Given the description of an element on the screen output the (x, y) to click on. 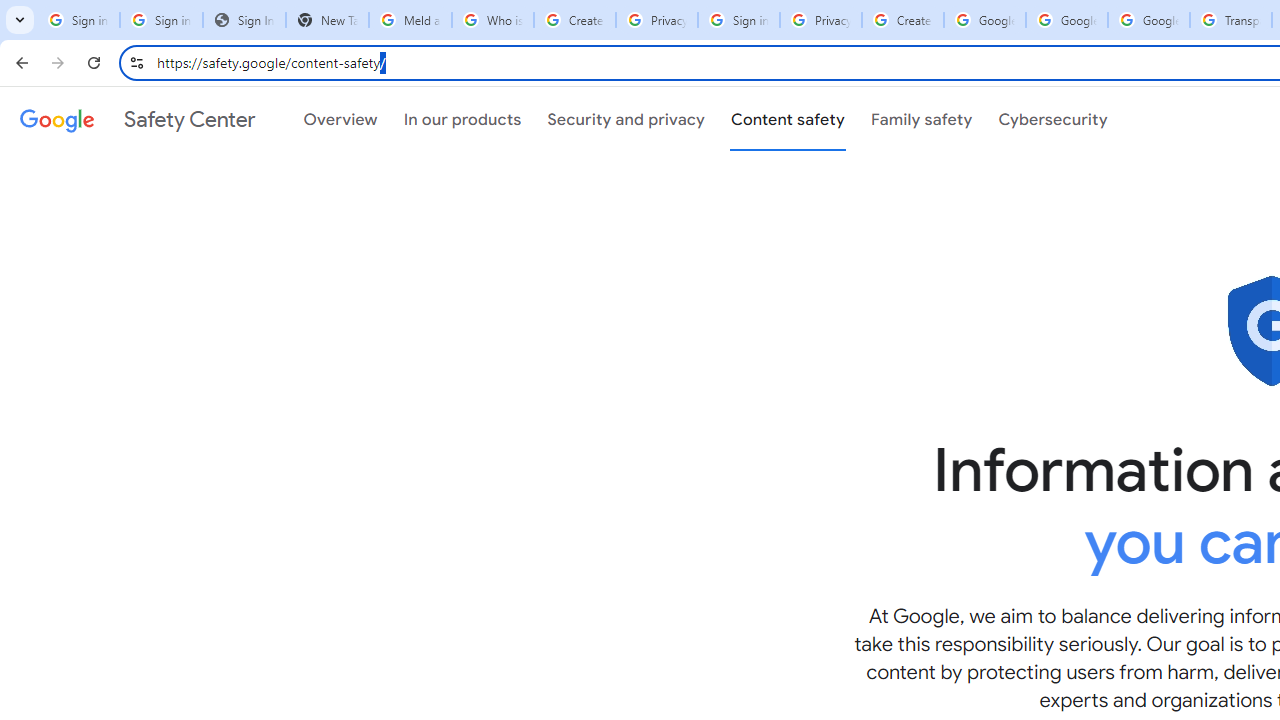
Sign in - Google Accounts (161, 20)
Sign In - USA TODAY (244, 20)
Security and privacy (626, 119)
Content safety (787, 119)
Cybersecurity (1053, 119)
New Tab (326, 20)
Family safety (921, 119)
Sign in - Google Accounts (738, 20)
